Given the description of an element on the screen output the (x, y) to click on. 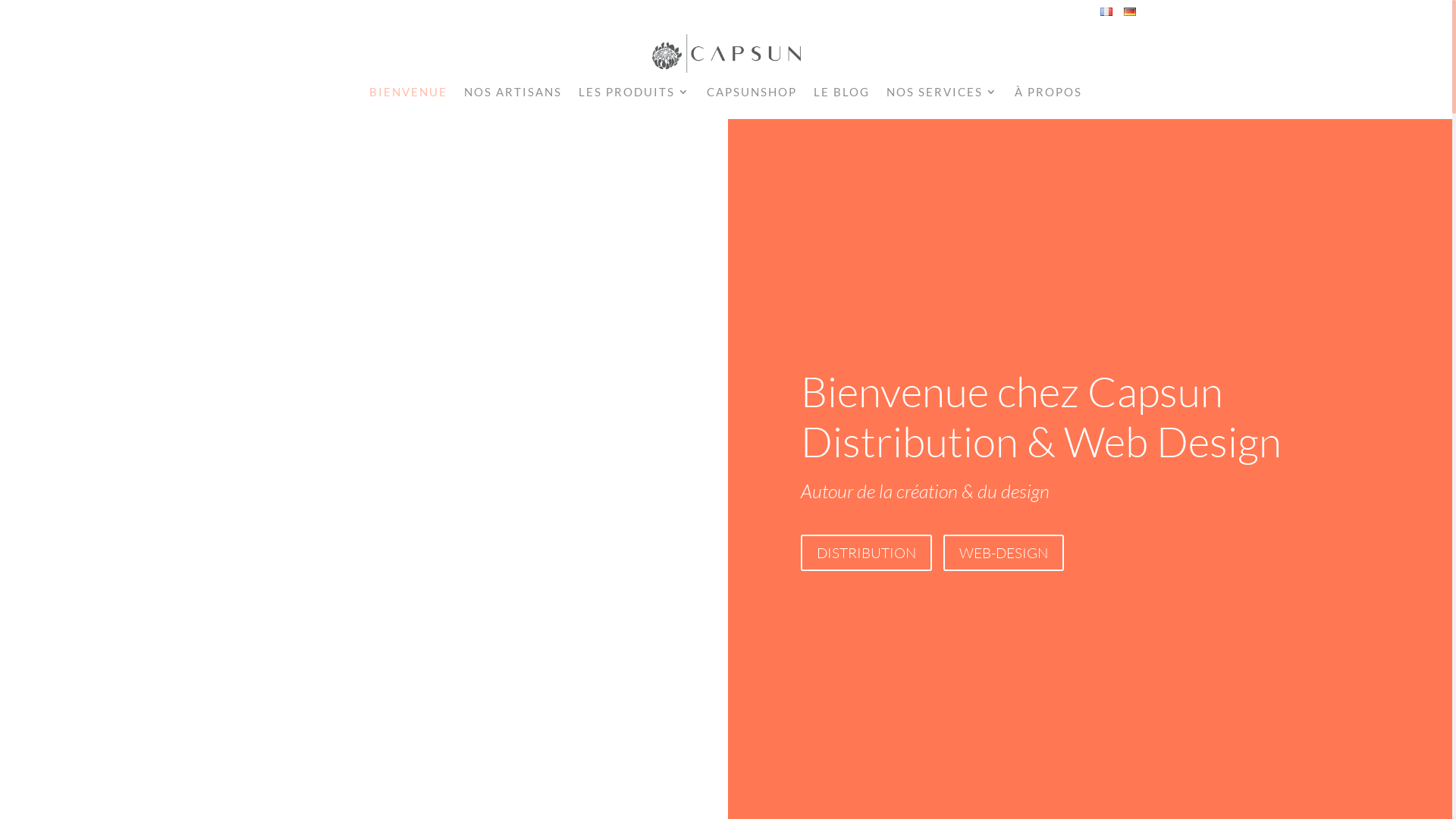
WEB-DESIGN Element type: text (1003, 552)
LES PRODUITS Element type: text (633, 96)
LE BLOG Element type: text (840, 96)
NOS SERVICES Element type: text (941, 96)
DISTRIBUTION Element type: text (865, 552)
NOS ARTISANS Element type: text (512, 96)
BIENVENUE Element type: text (407, 96)
CAPSUNSHOP Element type: text (751, 96)
